Given the description of an element on the screen output the (x, y) to click on. 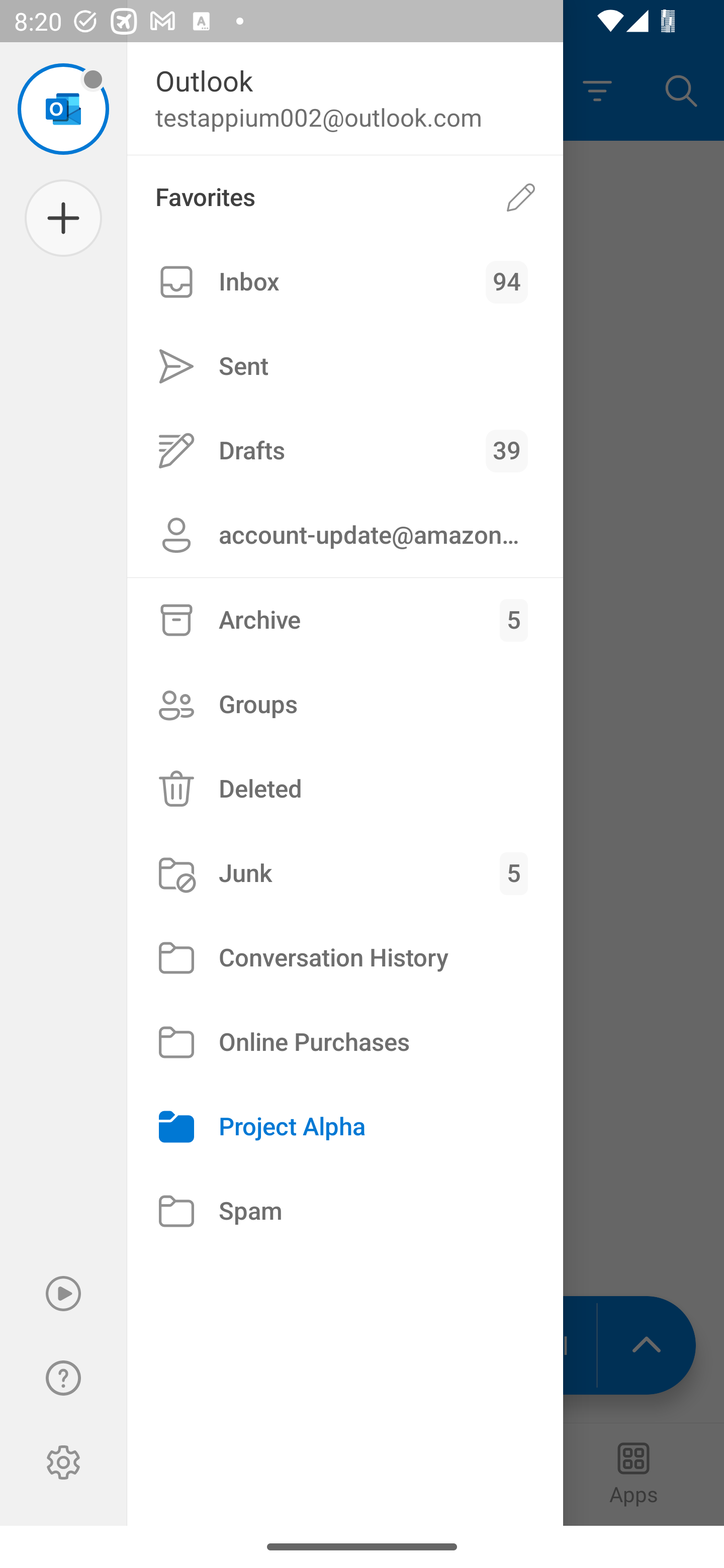
Edit favorites (520, 197)
Add account (63, 217)
Inbox Inbox, 94 unread emails (345, 281)
Sent (345, 366)
Drafts Drafts, 39 unread emails (345, 450)
account-update@amazon.com (345, 534)
Archive Archive, 2 of 9, level 1, 5 unread emails (345, 619)
Groups Groups, 3 of 9, level 1 (345, 703)
Deleted Deleted, 4 of 9, level 1 (345, 788)
Junk Junk, 5 of 9, level 1, 5 unread emails (345, 873)
Online Purchases Online Purchases, 7 of 9, level 1 (345, 1042)
Spam Spam, 9 of 9, level 1 (345, 1210)
Play My Emails (62, 1293)
Help (62, 1377)
Settings (62, 1462)
